Given the description of an element on the screen output the (x, y) to click on. 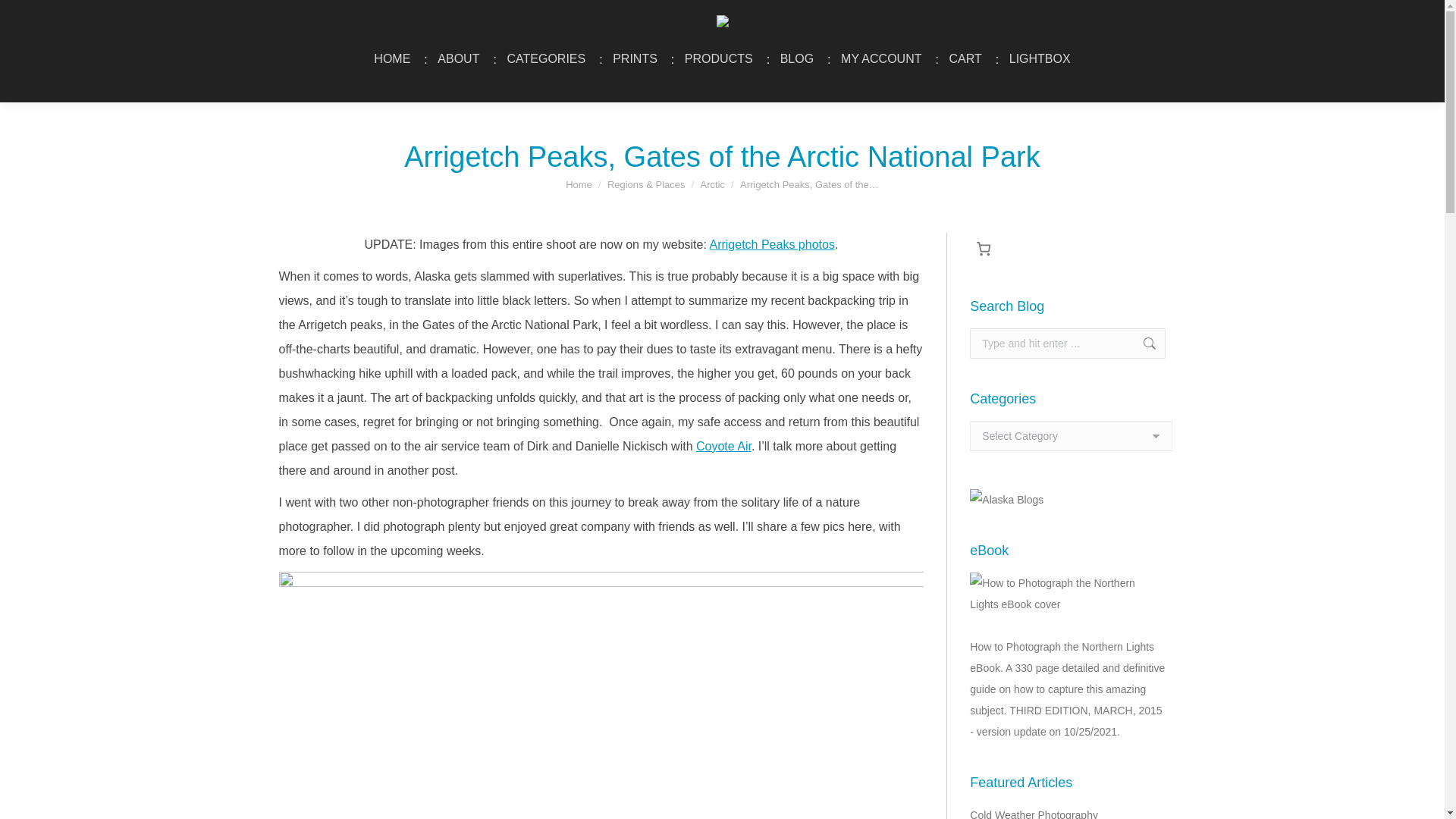
Go! (1141, 343)
MY ACCOUNT (880, 58)
Alaska Blogs (1006, 499)
PRINTS (634, 58)
HOME (391, 58)
Go! (1141, 343)
LIGHTBOX (1040, 58)
Arctic (712, 184)
CART (964, 58)
BLOG (796, 58)
